Given the description of an element on the screen output the (x, y) to click on. 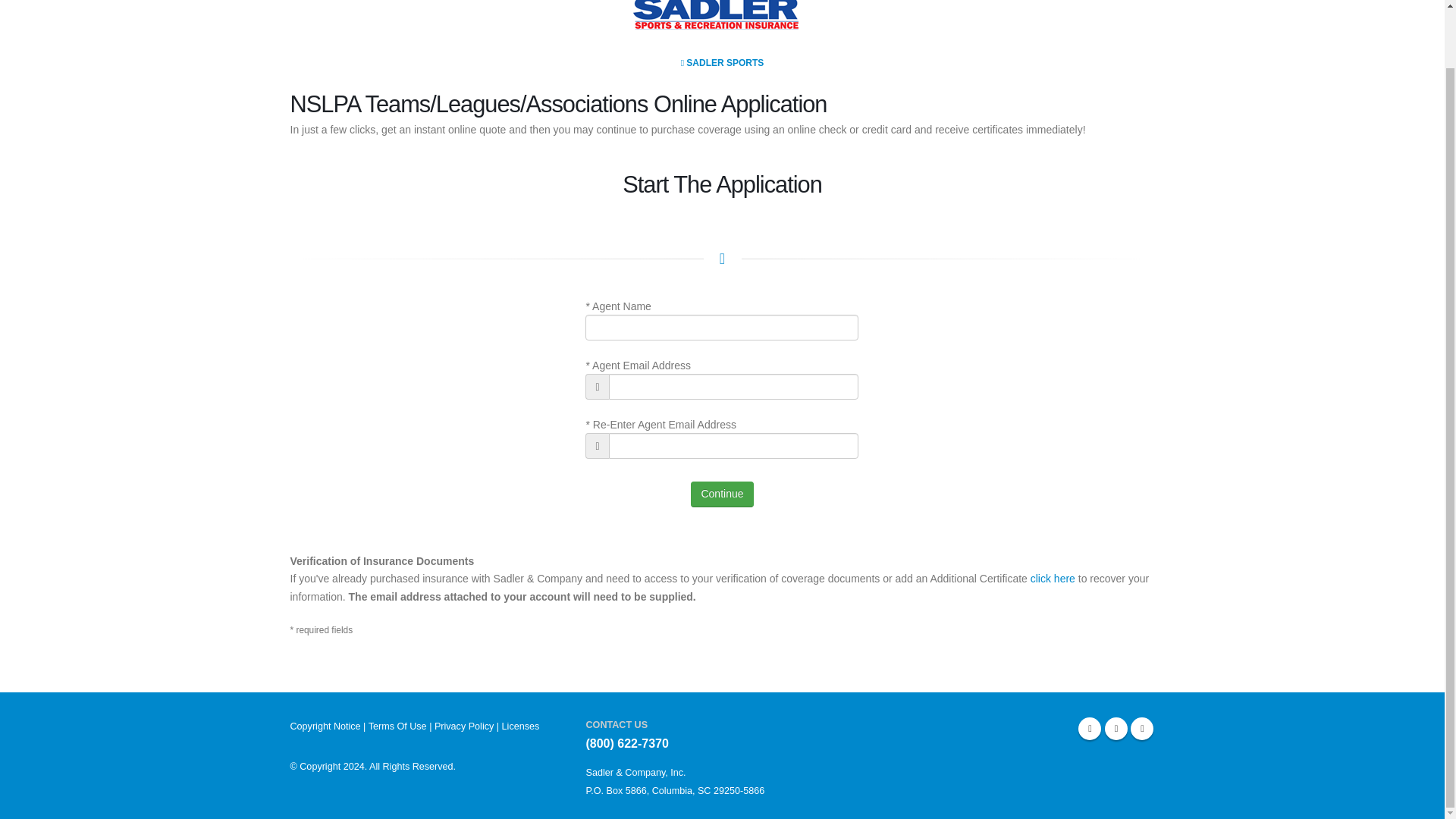
Facebook (1089, 728)
SADLER SPORTS (722, 62)
Linkedin (1142, 728)
Terms Of Use (397, 726)
Twitter (1115, 728)
Privacy Policy (463, 726)
Licenses (521, 726)
click here (1052, 578)
Copyright Notice (324, 726)
Continue (721, 493)
Continue (721, 493)
